Given the description of an element on the screen output the (x, y) to click on. 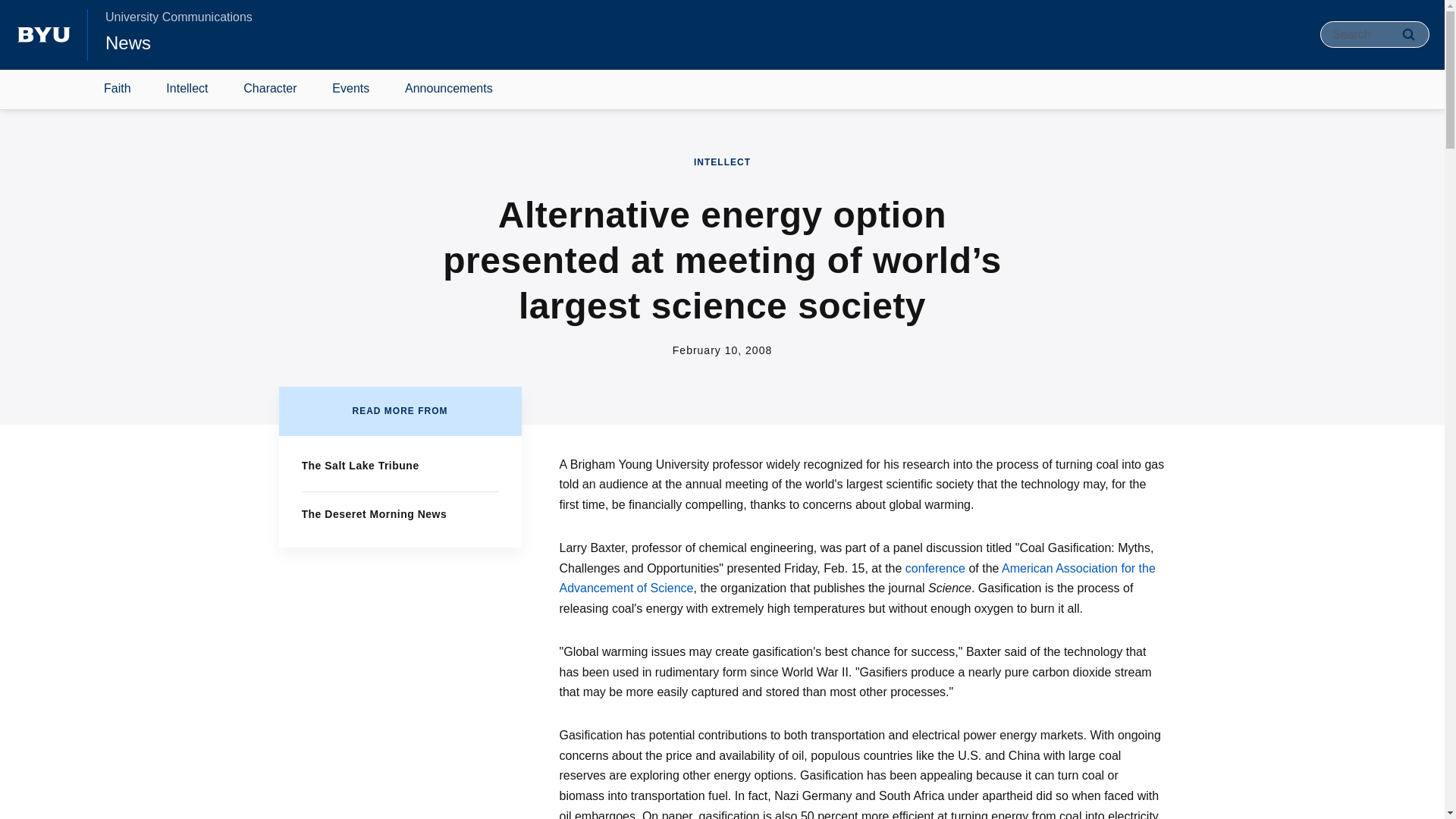
conference (935, 567)
Search (1408, 34)
INTELLECT (722, 162)
The Deseret Morning News (373, 513)
News (127, 42)
Faith (117, 89)
University Communications (177, 16)
Character (270, 89)
The Salt Lake Tribune (360, 465)
Announcements (448, 89)
